Given the description of an element on the screen output the (x, y) to click on. 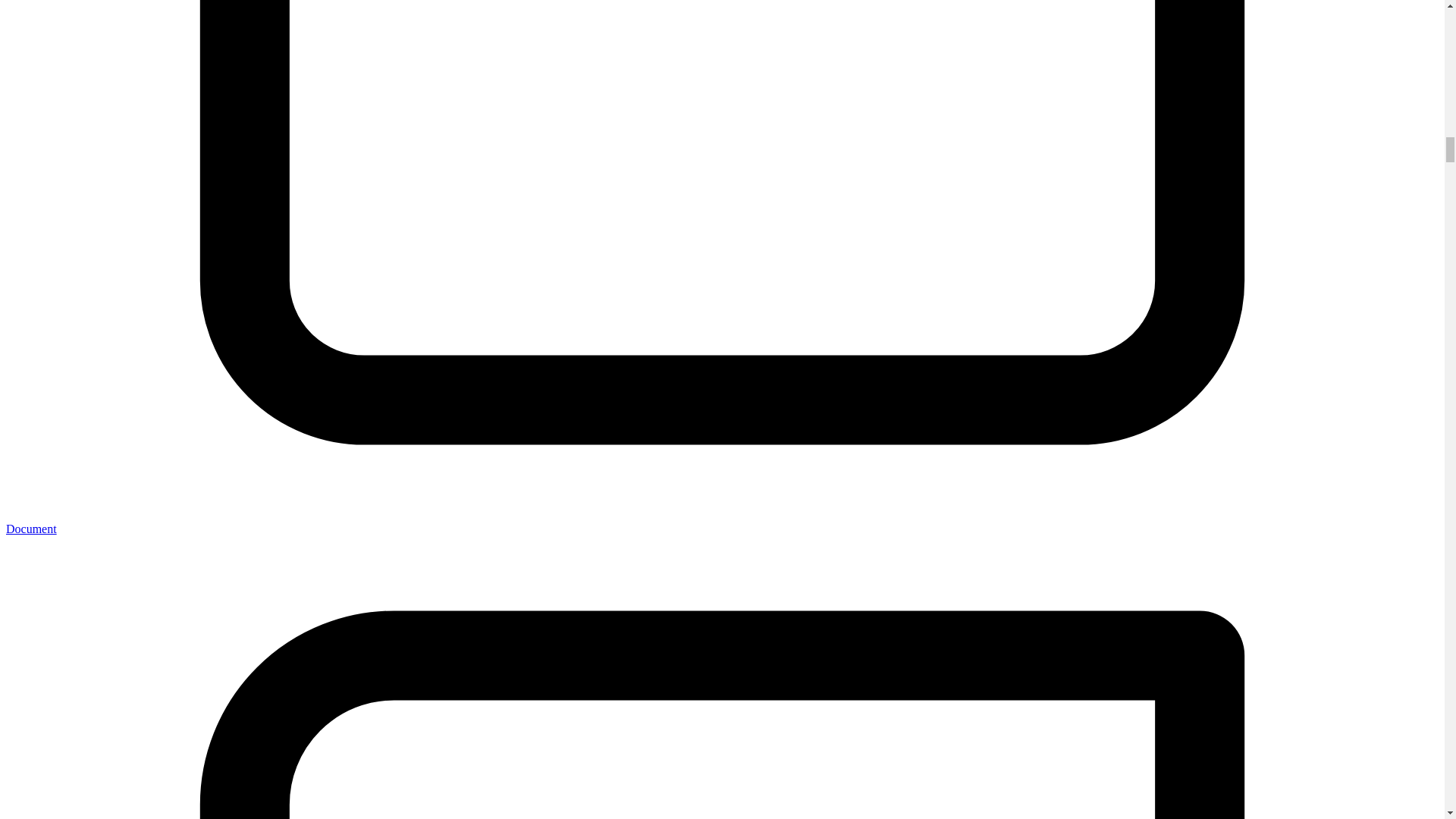
Document (30, 528)
